Given the description of an element on the screen output the (x, y) to click on. 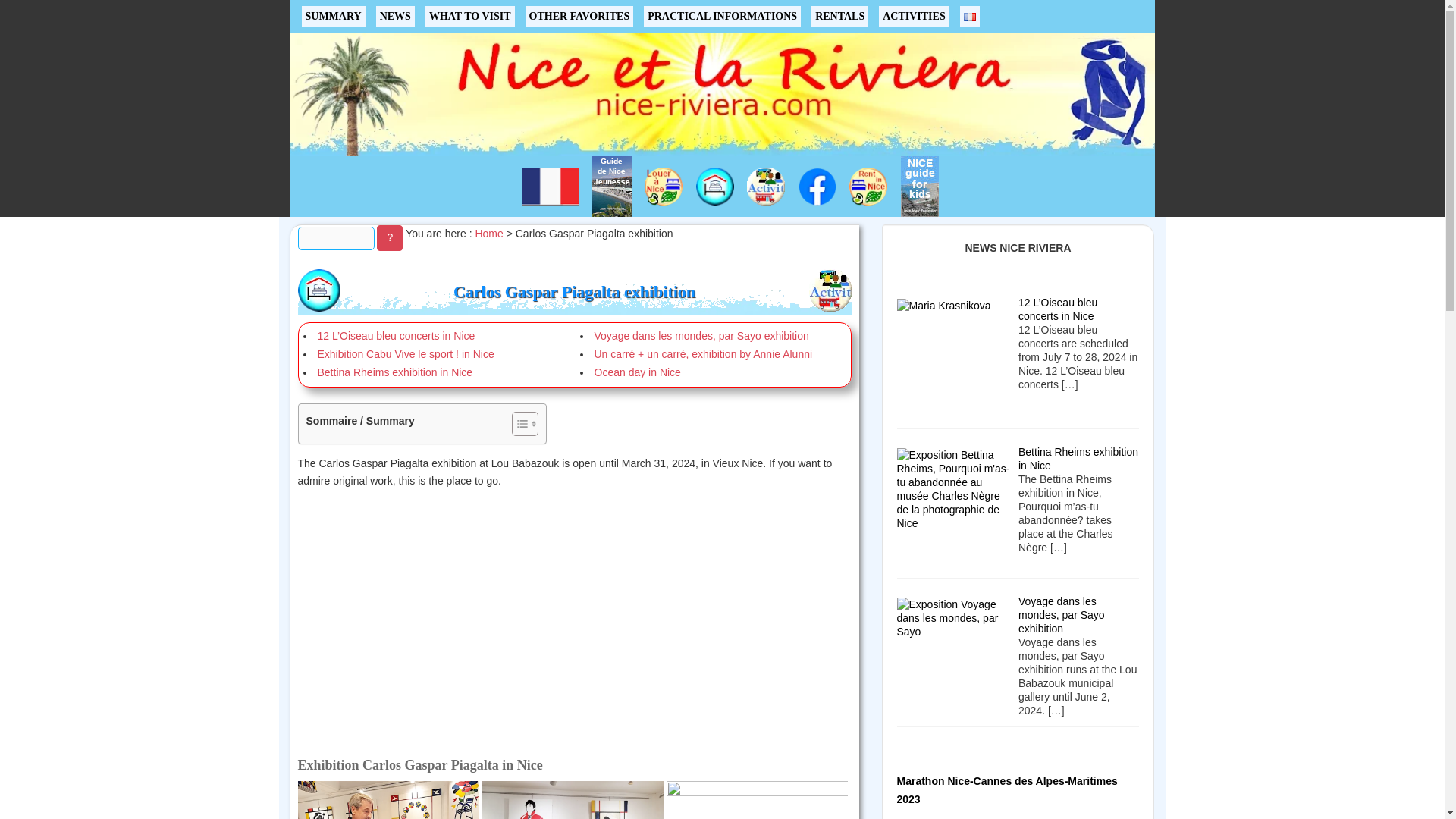
Bettina Rheims exhibition in Nice (394, 372)
Hotel apartment in Nice (318, 290)
YouTube video player (574, 617)
Rent an organic apartment in Nice (867, 186)
? (390, 237)
SUMMARY (333, 16)
ACTIVITIES (914, 16)
Studio for rent in Nice near the sea (663, 186)
Voyage dans les mondes, par Sayo exhibition (701, 336)
PRACTICAL INFORMATIONS (721, 16)
